Given the description of an element on the screen output the (x, y) to click on. 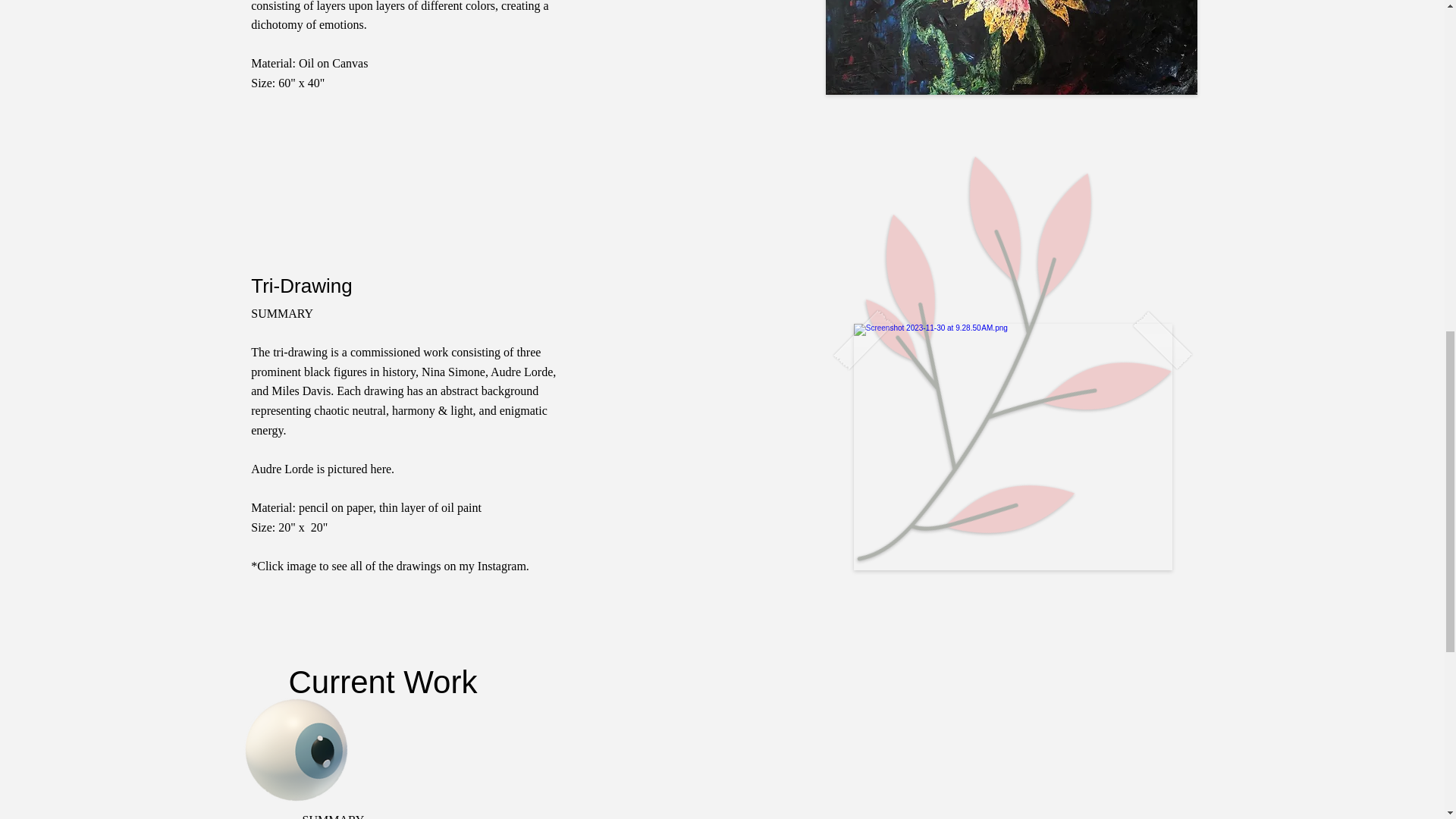
Eye (274, 724)
